Given the description of an element on the screen output the (x, y) to click on. 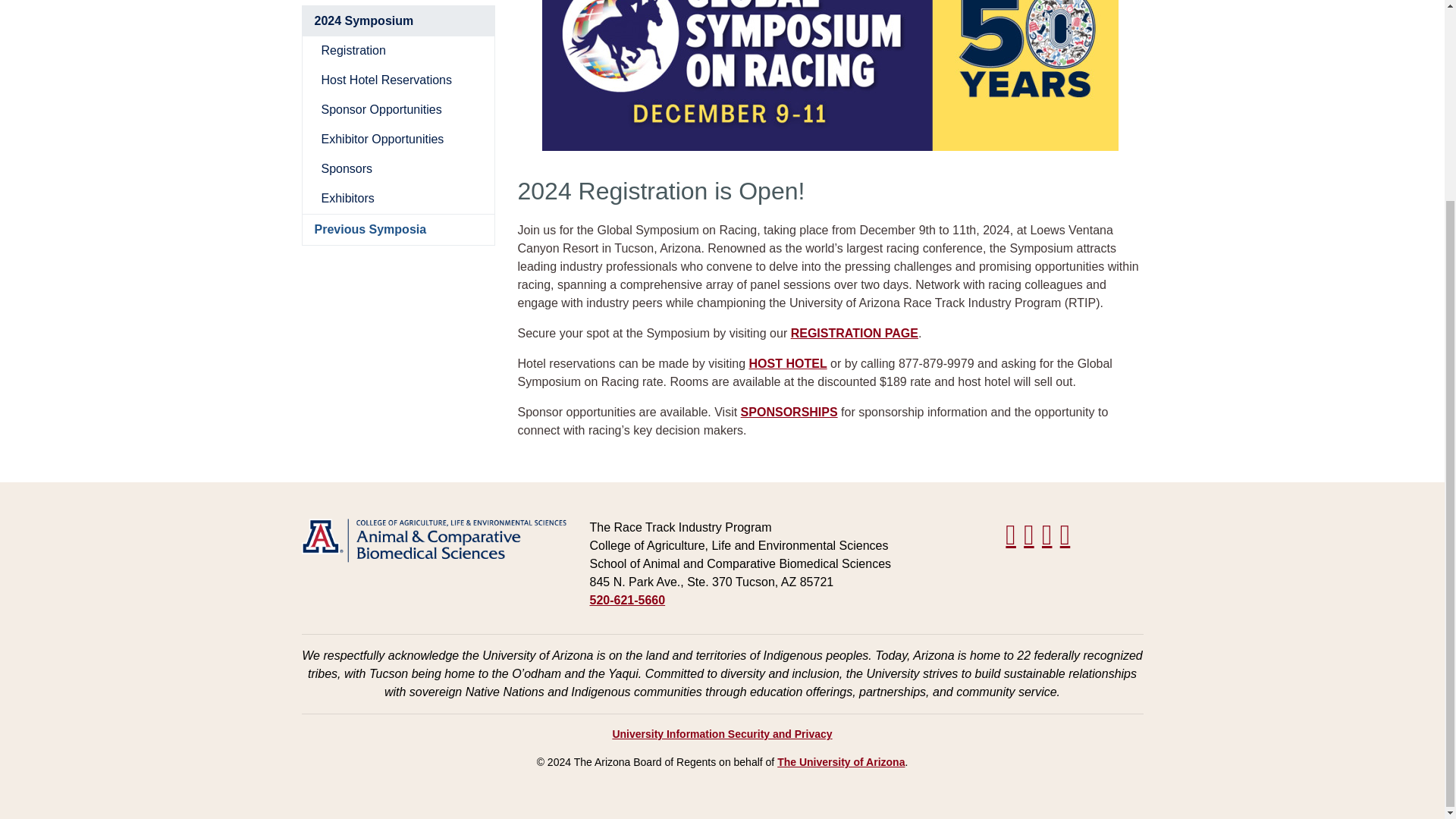
REGISTRATION PAGE (854, 332)
HOST HOTEL (788, 363)
